Given the description of an element on the screen output the (x, y) to click on. 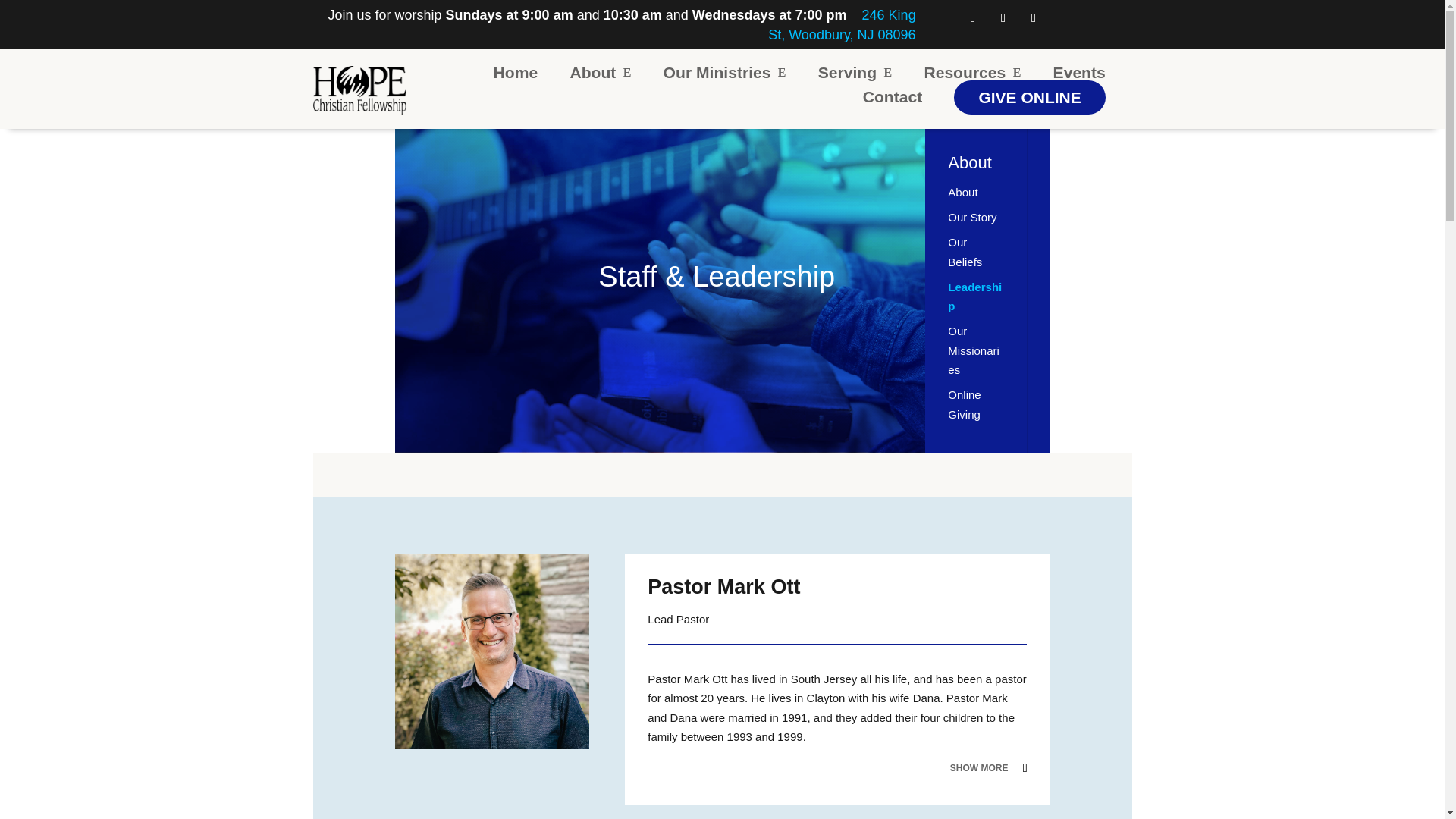
Home (515, 72)
Follow on Youtube (1033, 17)
GIVE ONLINE (1029, 97)
Contact (893, 96)
Events (1078, 72)
Serving (854, 72)
246 King St, Woodbury, NJ 08096 (841, 24)
pastor-mark-ott (491, 651)
About (599, 72)
Our Ministries (724, 72)
Follow on Instagram (1002, 17)
Follow on Facebook (972, 17)
Resources (971, 72)
